Given the description of an element on the screen output the (x, y) to click on. 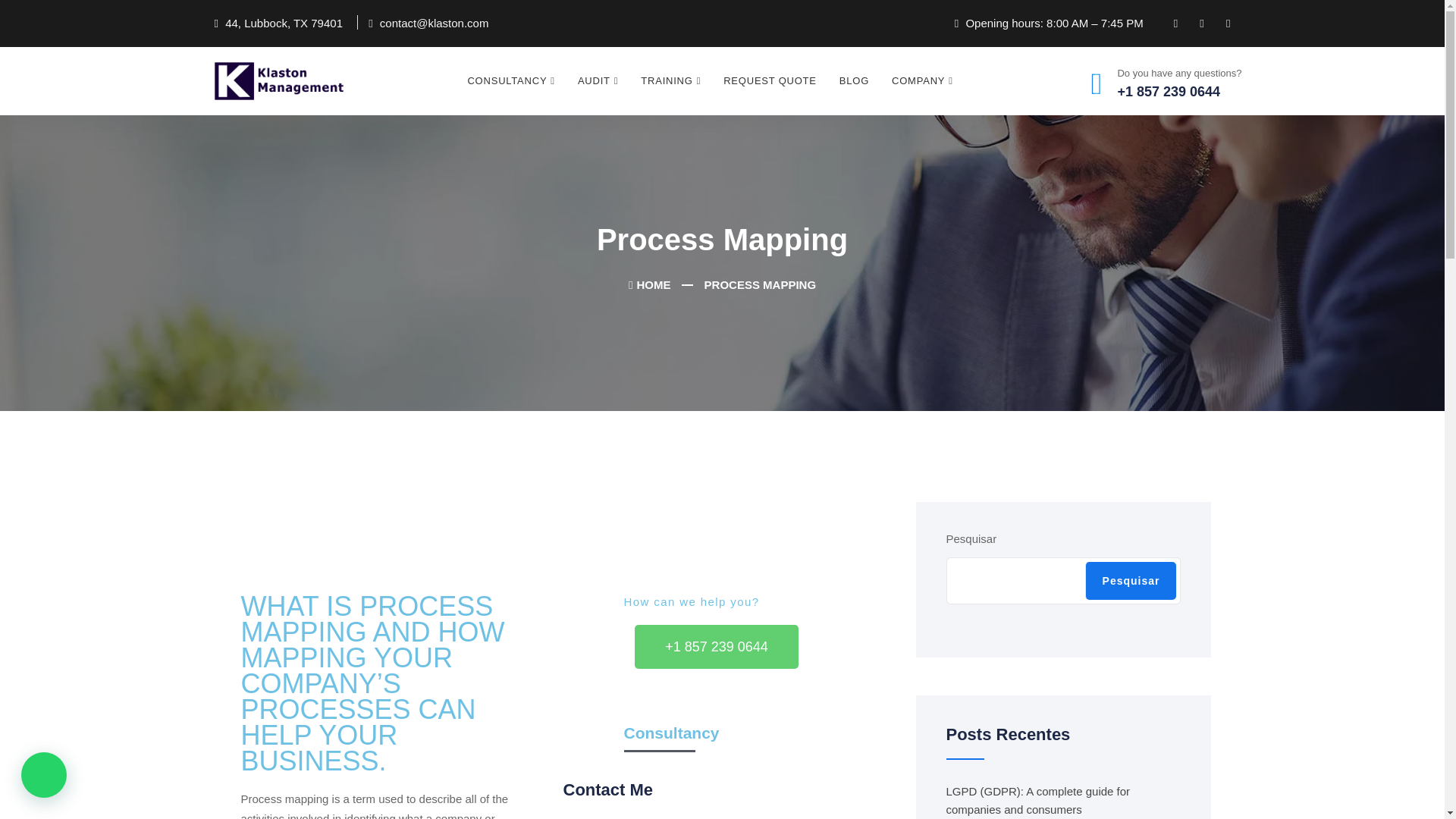
REQUEST QUOTE (769, 80)
TRAINING (669, 80)
Audit (597, 80)
COMPANY (921, 80)
CONSULTANCY (510, 80)
Consultancy (510, 80)
AUDIT (597, 80)
